Given the description of an element on the screen output the (x, y) to click on. 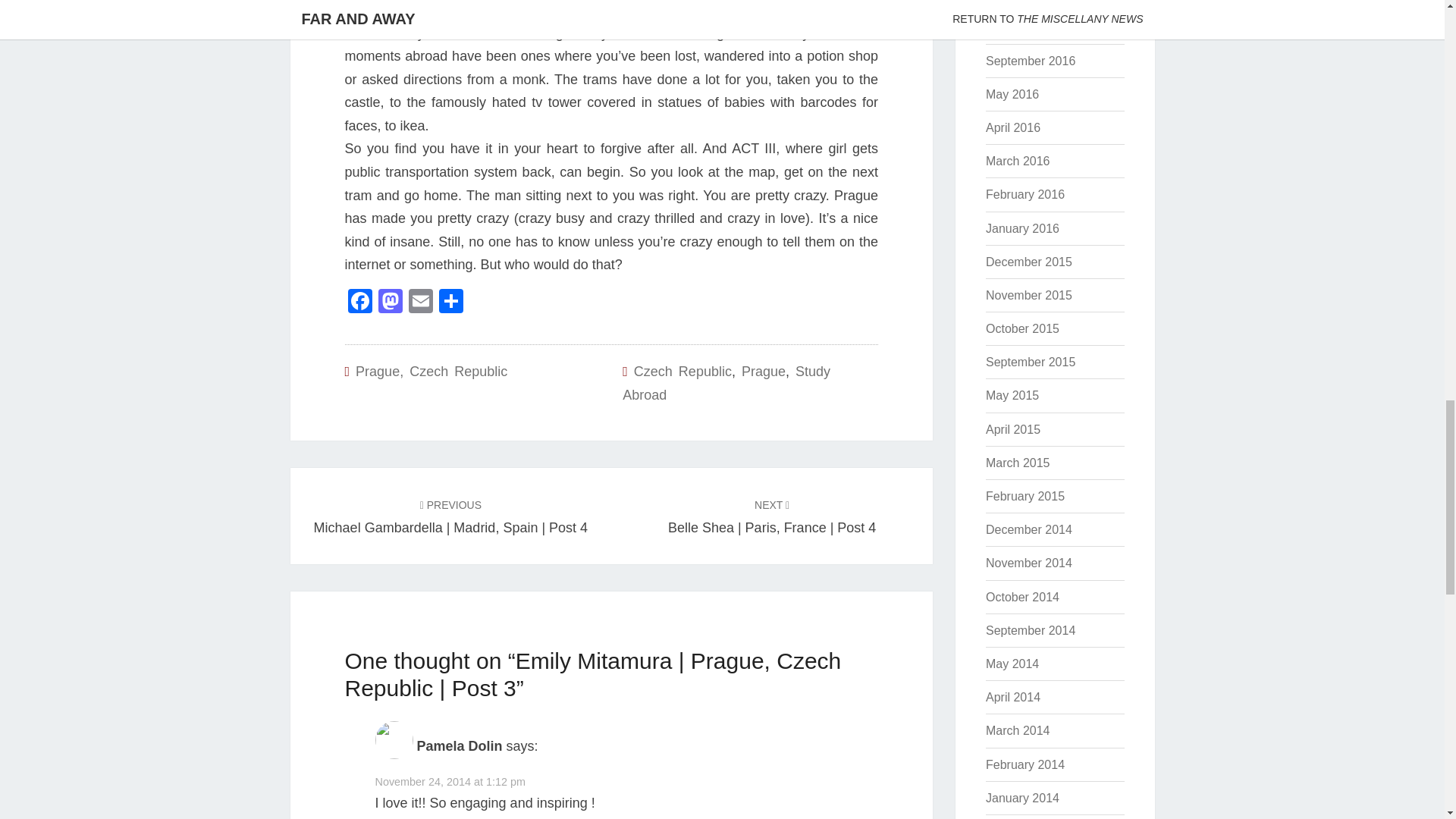
Facebook (358, 302)
Mastodon (389, 302)
Facebook (358, 302)
November 24, 2014 at 1:12 pm (449, 781)
Share (450, 302)
Prague, Czech Republic (430, 371)
Czech Republic (682, 371)
Study Abroad (726, 382)
Prague (763, 371)
Email (419, 302)
Email (419, 302)
Mastodon (389, 302)
